Given the description of an element on the screen output the (x, y) to click on. 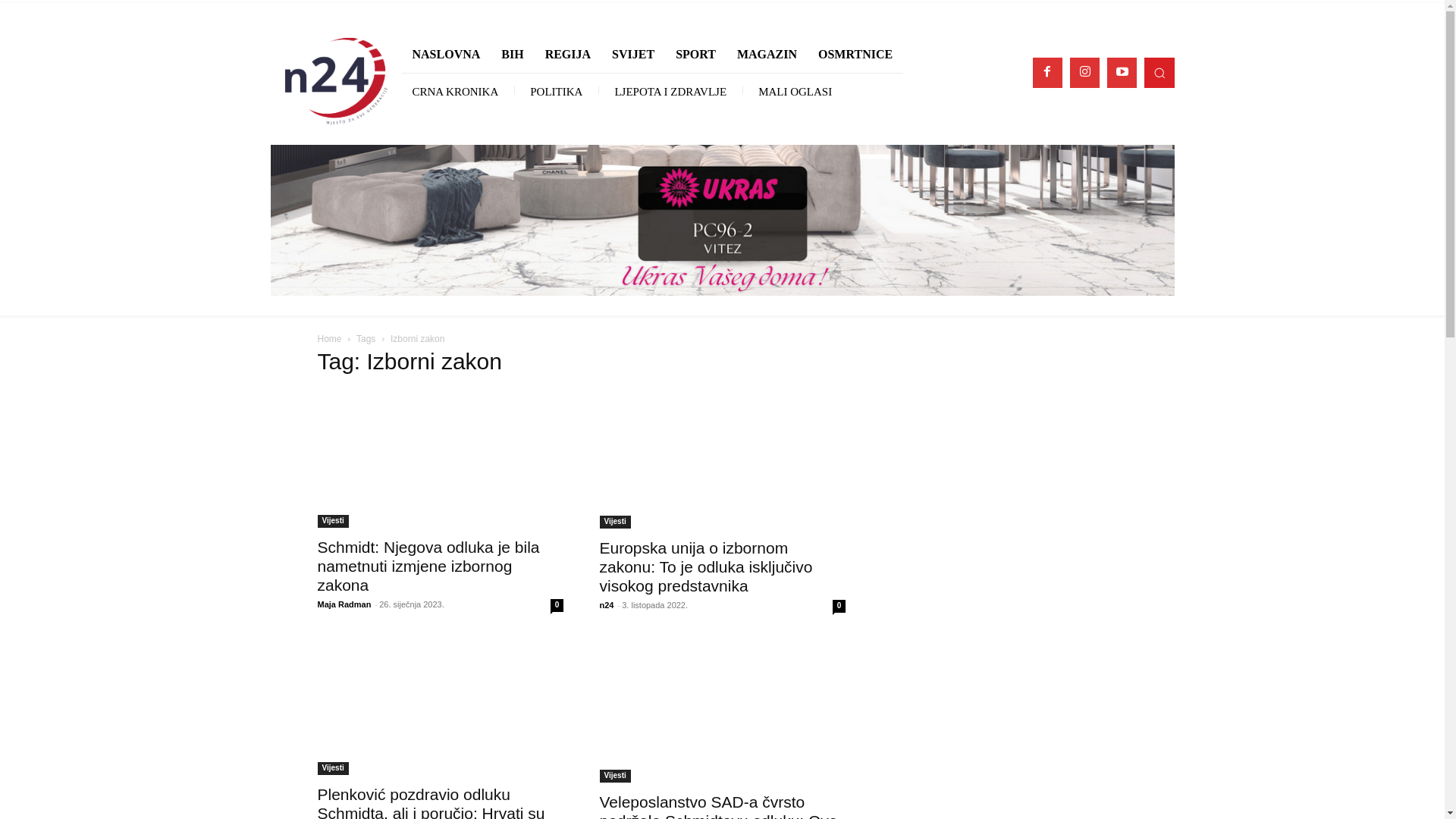
0 Element type: text (838, 605)
Maja Radman Element type: text (343, 603)
REGIJA Element type: text (567, 54)
Youtube Element type: hover (1121, 72)
Facebook Element type: hover (1047, 72)
Instagram Element type: hover (1084, 72)
POLITIKA Element type: text (556, 90)
SPORT Element type: text (695, 54)
NASLOVNA Element type: text (446, 54)
OSMRTNICE Element type: text (855, 54)
Home Element type: text (328, 338)
Vijesti Element type: text (332, 520)
BIH Element type: text (511, 54)
Vijesti Element type: text (614, 775)
n24 Element type: text (606, 604)
0 Element type: text (556, 605)
Vijesti Element type: text (332, 768)
MAGAZIN Element type: text (766, 54)
LJEPOTA I ZDRAVLJE Element type: text (670, 90)
Vijesti Element type: text (614, 521)
CRNA KRONIKA Element type: text (455, 90)
MALI OGLASI Element type: text (794, 90)
SVIJET Element type: text (633, 54)
